Given the description of an element on the screen output the (x, y) to click on. 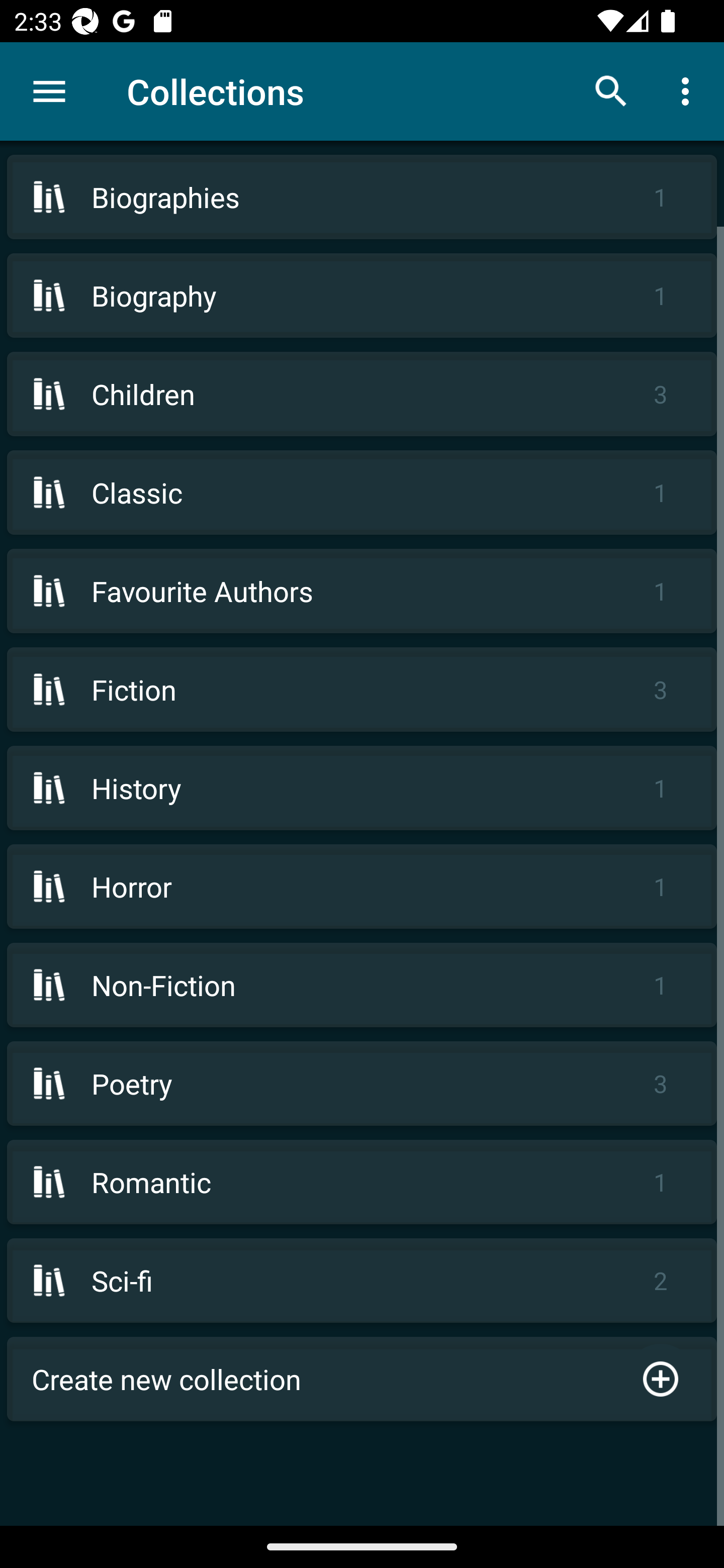
Menu (49, 91)
Search books & documents (611, 90)
More options (688, 90)
Biographies 1 (361, 197)
Biography 1 (361, 295)
Children 3 (361, 393)
Classic 1 (361, 492)
Favourite Authors 1 (361, 590)
Fiction 3 (361, 689)
History 1 (361, 787)
Horror 1 (361, 885)
Non-Fiction 1 (361, 984)
Poetry 3 (361, 1083)
Romantic 1 (361, 1181)
Sci-fi 2 (361, 1280)
Create new collection (361, 1378)
